Given the description of an element on the screen output the (x, y) to click on. 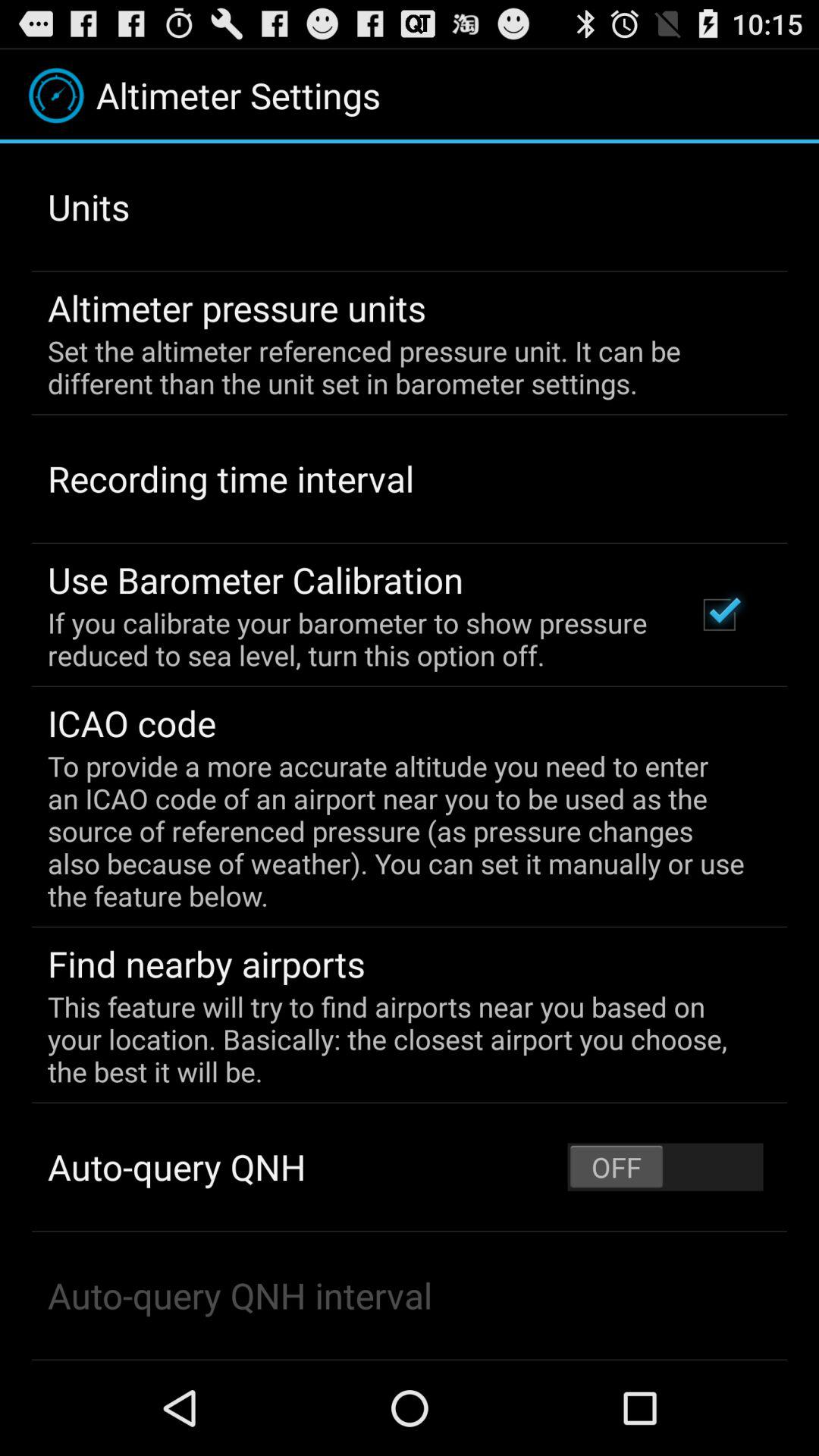
open item below the altimeter pressure units item (399, 367)
